Given the description of an element on the screen output the (x, y) to click on. 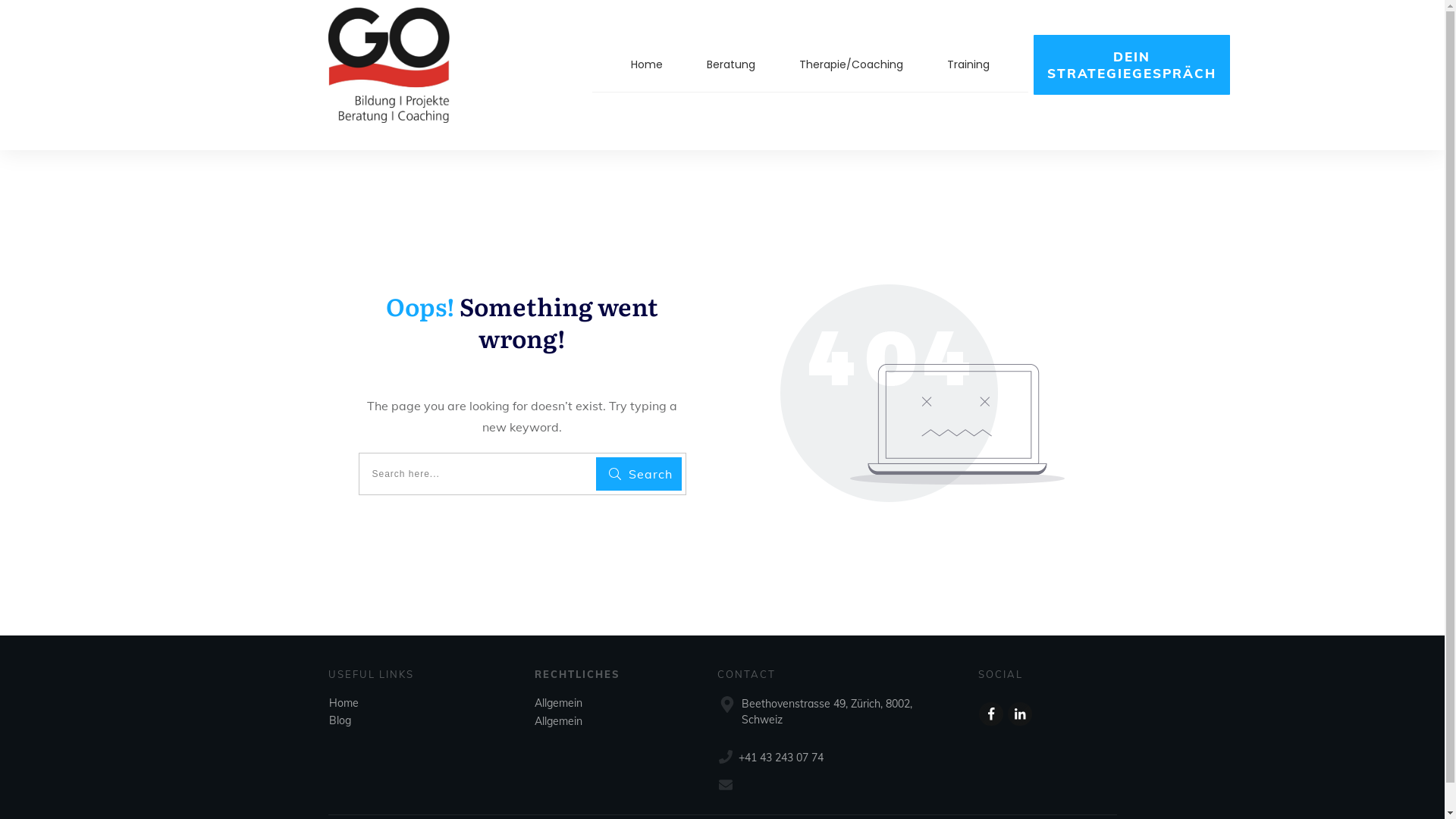
Training Element type: text (968, 64)
Allgemein Element type: text (558, 702)
Allgemein Element type: text (558, 720)
Search Element type: text (638, 473)
Blog Element type: text (340, 720)
404 Element type: hover (922, 392)
Beratung Element type: text (730, 64)
Home Element type: text (343, 702)
Home Element type: text (646, 64)
Therapie/Coaching Element type: text (851, 64)
